Given the description of an element on the screen output the (x, y) to click on. 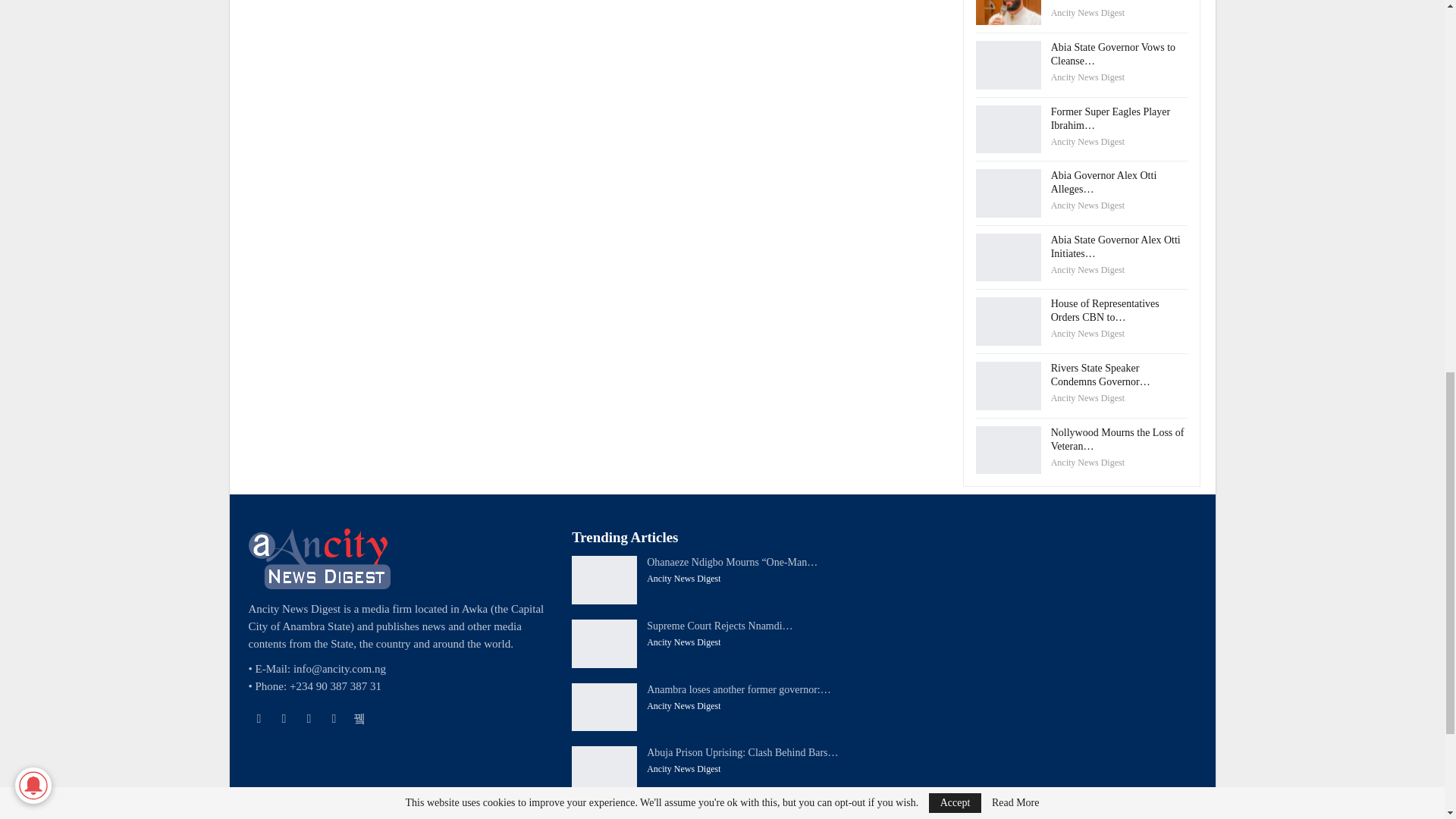
Browse Author Articles (1087, 141)
Ancity News Digest (1087, 77)
Advertisement (595, 41)
Ancity News Digest (1087, 12)
Browse Author Articles (1087, 12)
Browse Author Articles (1087, 77)
